Given the description of an element on the screen output the (x, y) to click on. 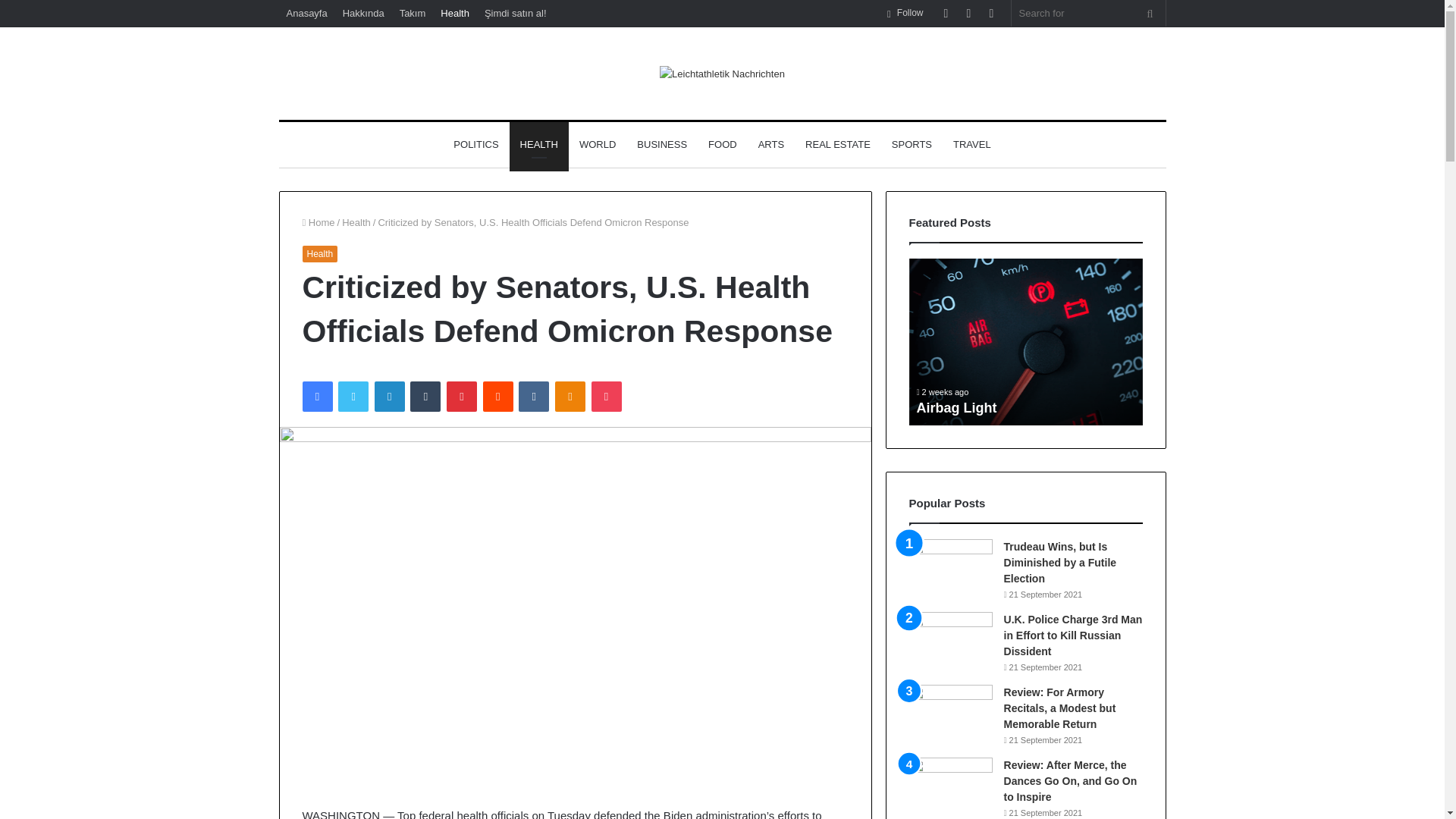
WORLD (597, 144)
Home (317, 222)
LinkedIn (389, 396)
Odnoklassniki (569, 396)
LinkedIn (389, 396)
VKontakte (533, 396)
BUSINESS (661, 144)
Odnoklassniki (569, 396)
FOOD (722, 144)
Pocket (606, 396)
Tumblr (425, 396)
HEALTH (539, 144)
POLITICS (475, 144)
Tumblr (425, 396)
ARTS (771, 144)
